Given the description of an element on the screen output the (x, y) to click on. 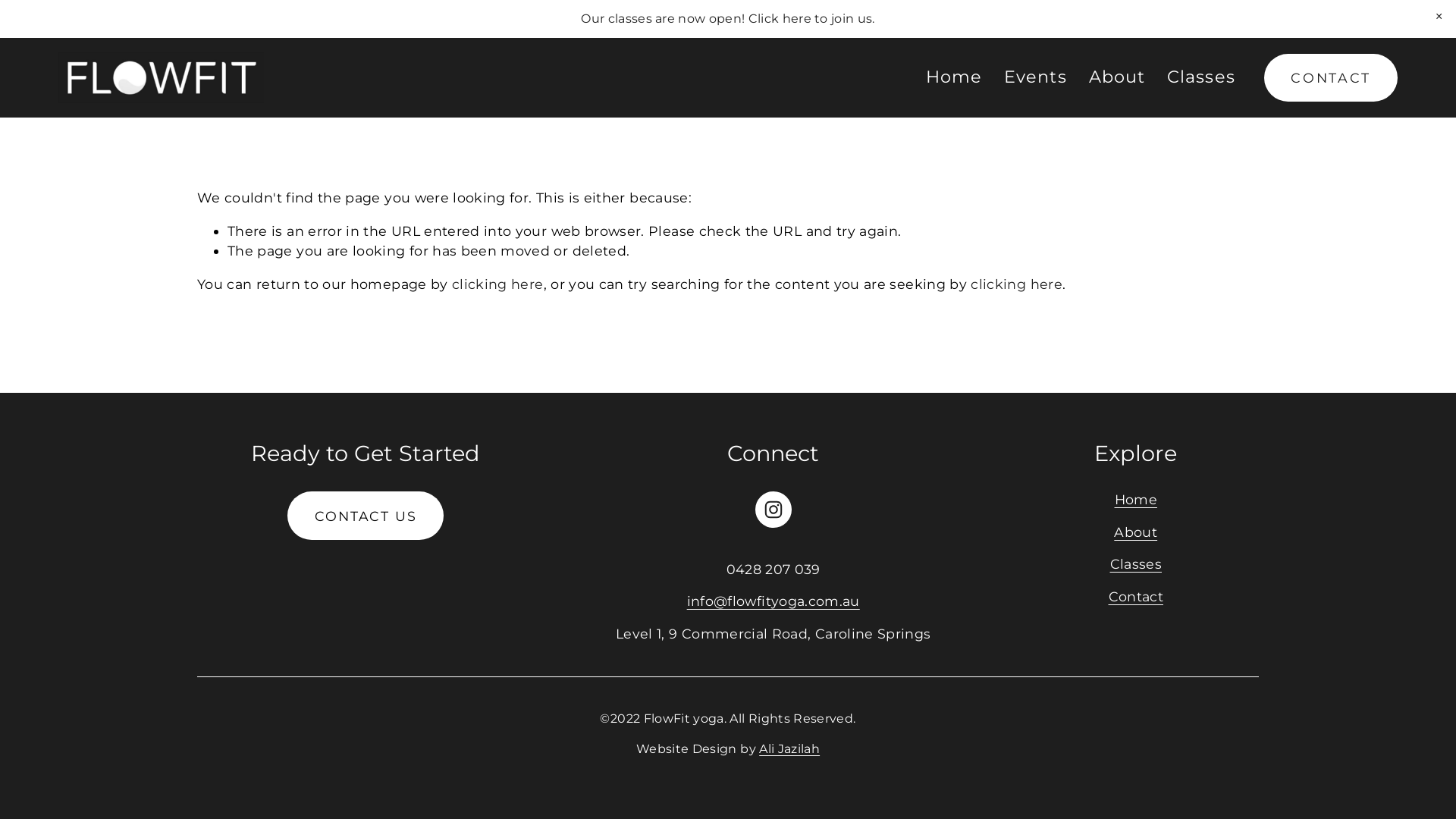
clicking here Element type: text (1016, 283)
Classes Element type: text (1135, 564)
Home Element type: text (1135, 499)
CONTACT Element type: text (1330, 77)
Events Element type: text (1035, 76)
About Element type: text (1135, 532)
About Element type: text (1116, 76)
Home Element type: text (953, 76)
Contact Element type: text (1135, 596)
Classes Element type: text (1201, 76)
CONTACT US Element type: text (364, 515)
info@flowfityoga.com.au Element type: text (773, 601)
clicking here Element type: text (497, 283)
Ali Jazilah Element type: text (789, 749)
